Given the description of an element on the screen output the (x, y) to click on. 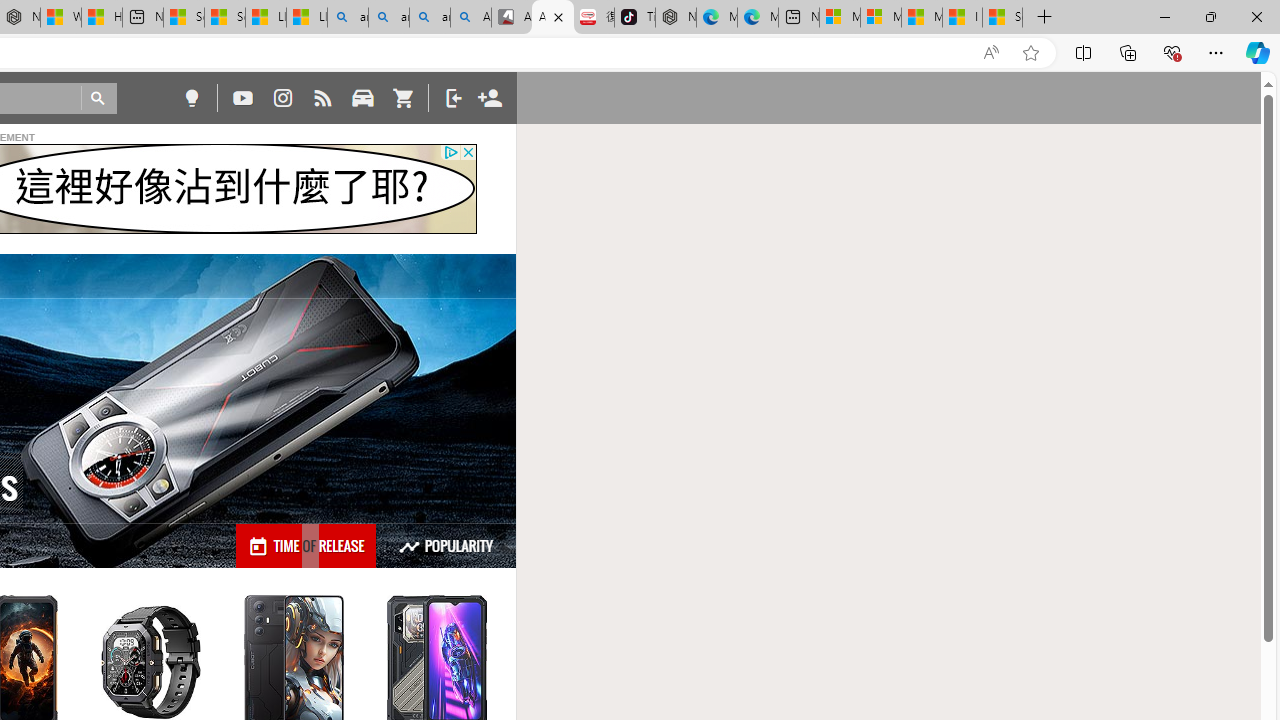
All Cubot phones (552, 17)
Go (98, 97)
Amazon Echo Robot - Search Images (470, 17)
Huge shark washes ashore at New York City beach | Watch (101, 17)
